Given the description of an element on the screen output the (x, y) to click on. 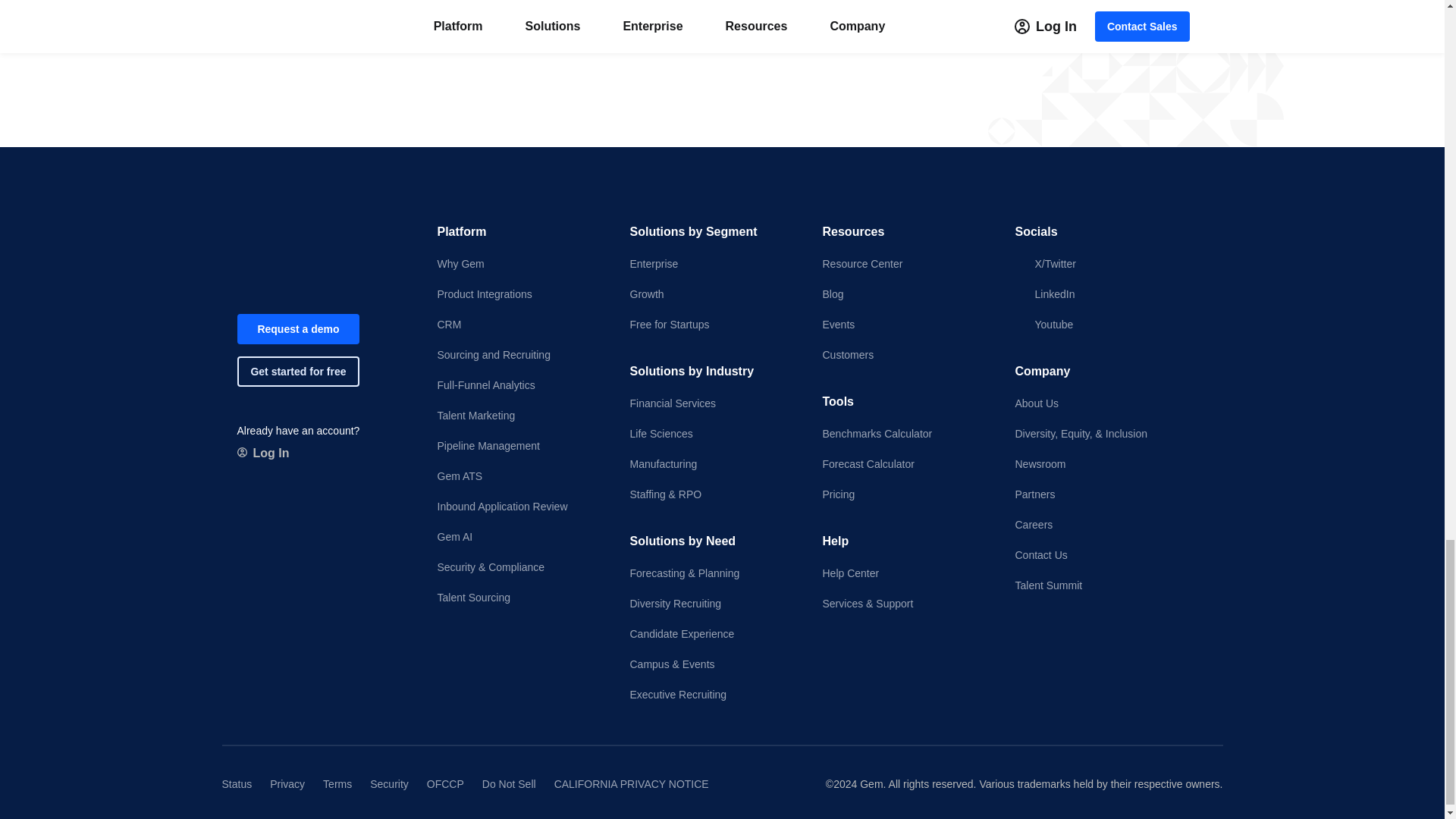
Product Integrations (520, 294)
Life Sciences (712, 433)
Full-Funnel Analytics (520, 385)
Pipeline Management (520, 445)
CRM (520, 324)
Request a demo (297, 328)
Talent Marketing (520, 415)
Gem AI (520, 536)
Manufacturing (712, 463)
Gem ATS (520, 476)
Sourcing and Recruiting (520, 354)
Financial Services (712, 403)
Request a demo (821, 2)
Get started for free (981, 2)
Log In (261, 453)
